Given the description of an element on the screen output the (x, y) to click on. 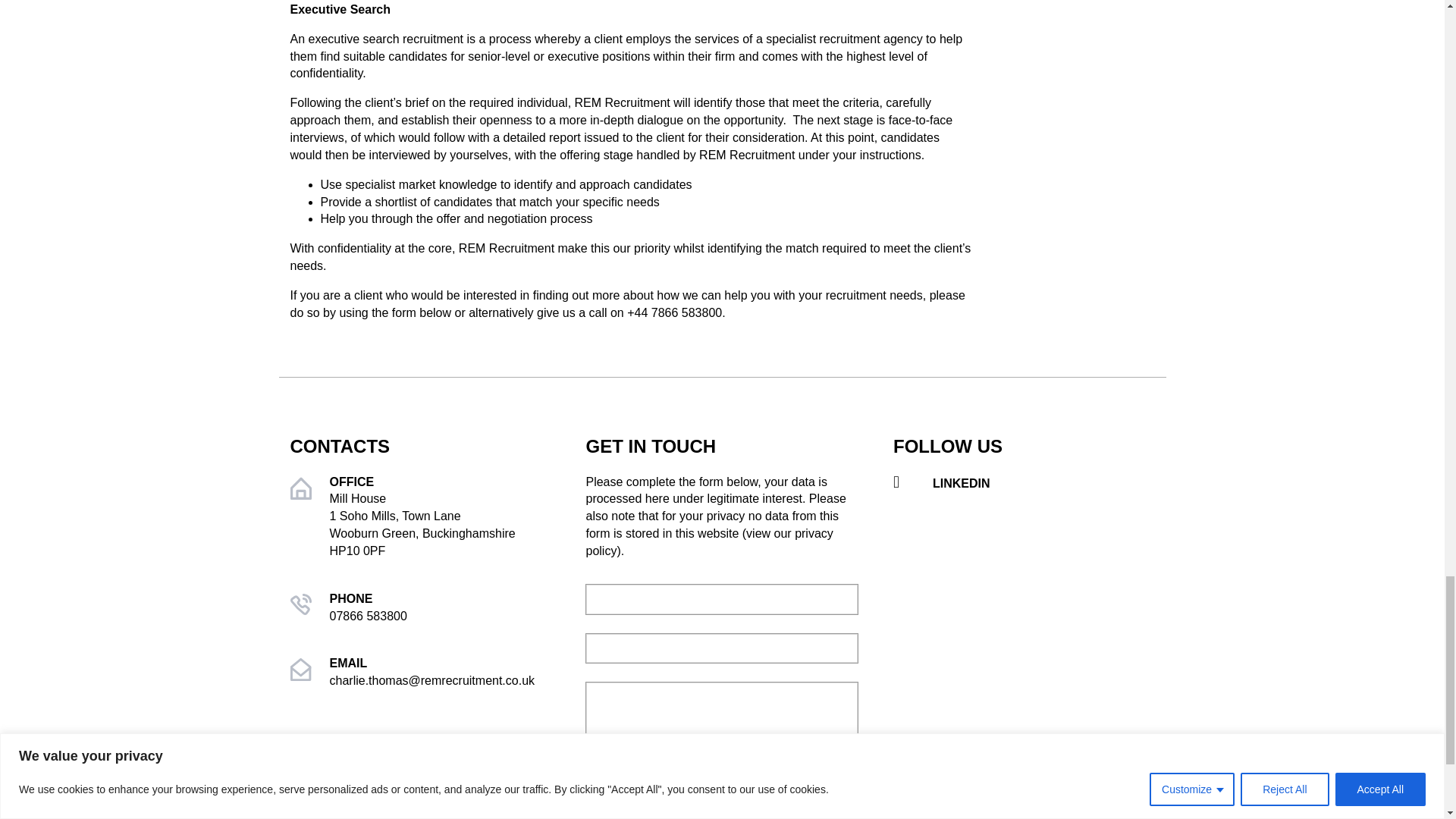
LINKEDIN (1023, 483)
LinkedIn (1023, 483)
view our privacy policy (708, 542)
privacy (708, 542)
SUBMIT (626, 812)
